Given the description of an element on the screen output the (x, y) to click on. 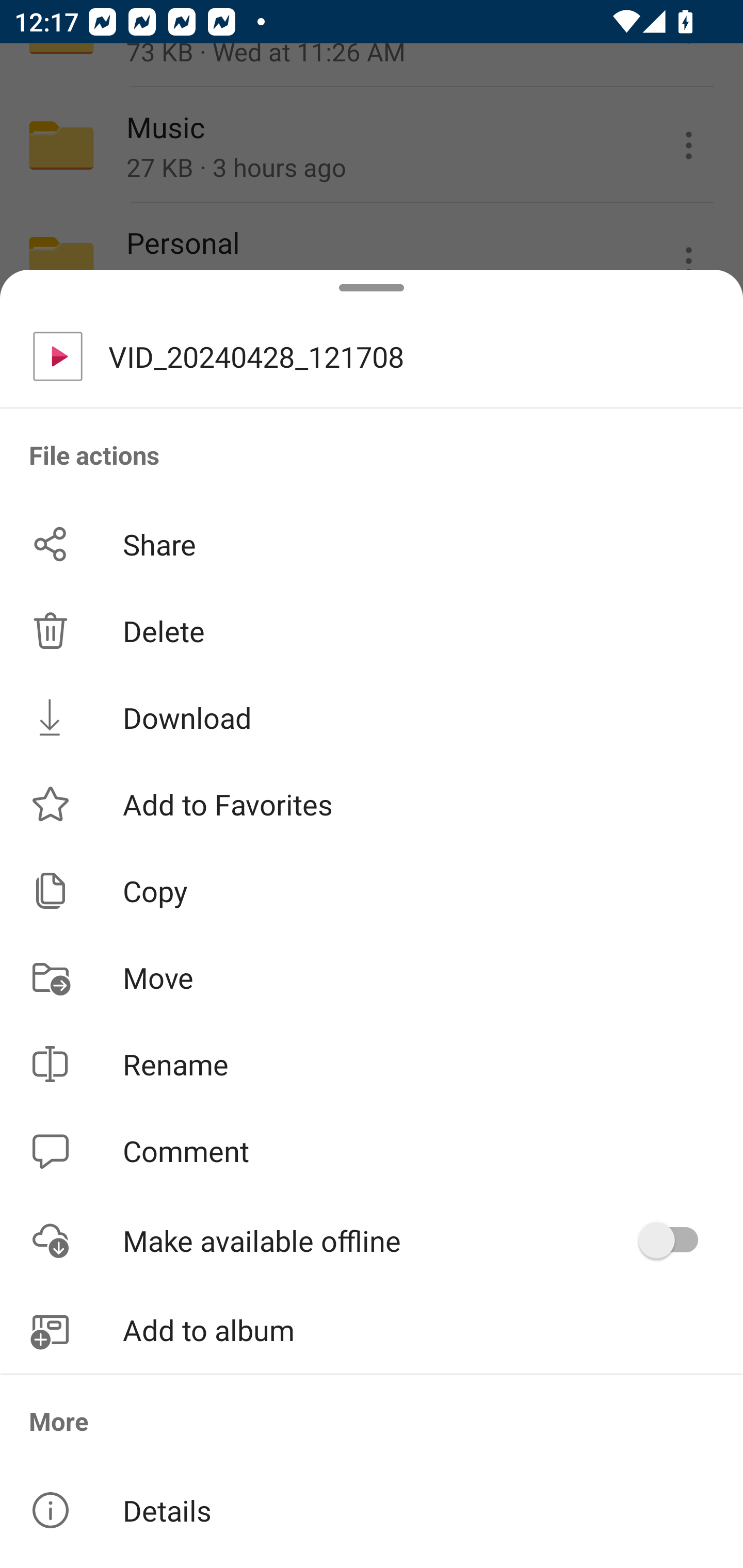
Share button Share (371, 544)
Delete button Delete (371, 631)
Download button Download (371, 717)
Add to Favorites button Add to Favorites (371, 803)
Copy button Copy (371, 890)
Move button Move (371, 977)
Rename button Rename (371, 1063)
Comment button Comment (371, 1150)
Make offline operation (674, 1240)
Add to album button Add to album (371, 1329)
Details button Details (371, 1510)
